Given the description of an element on the screen output the (x, y) to click on. 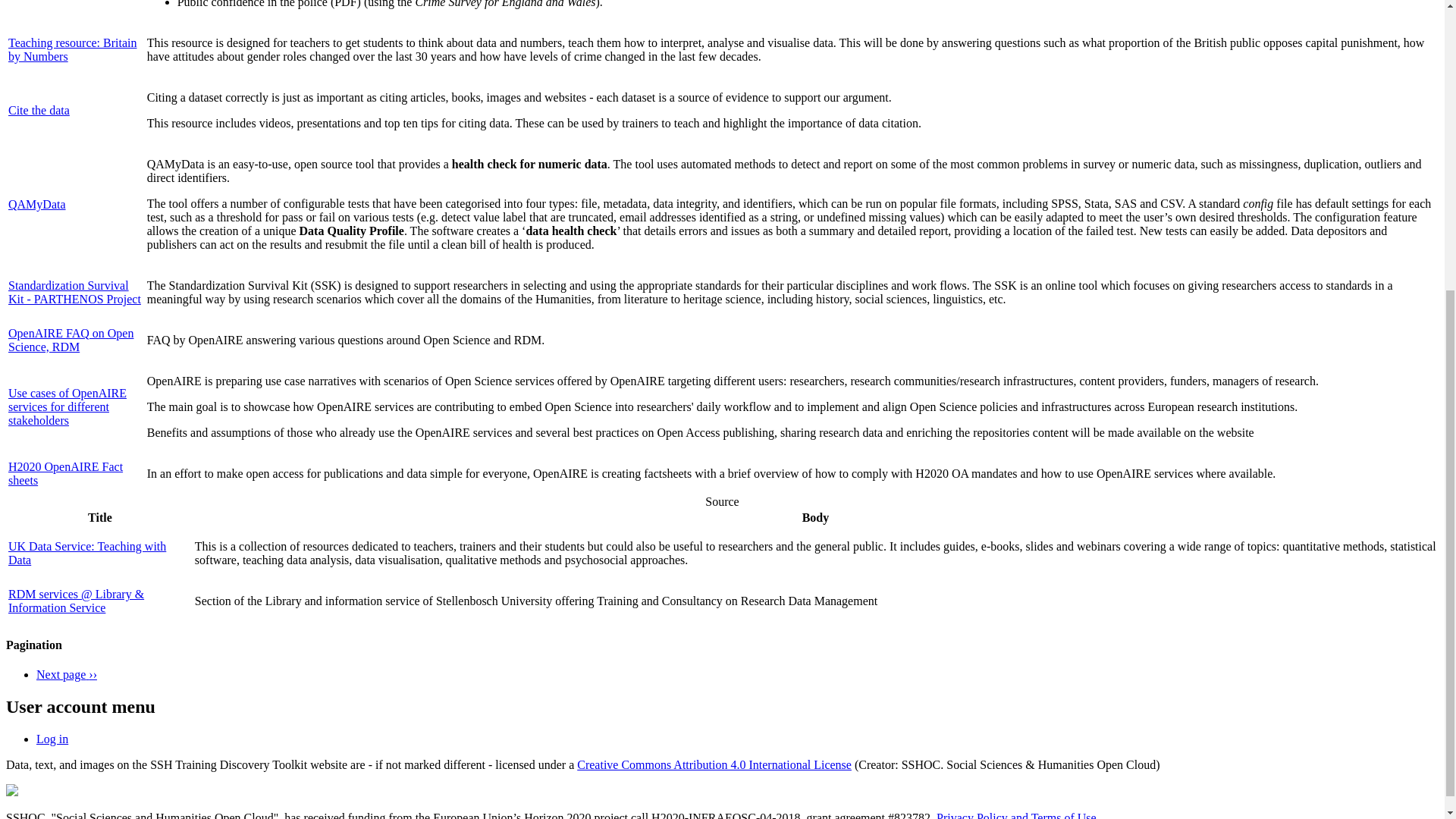
Use cases of OpenAIRE services for different stakeholders (67, 406)
Creative Commons Attribution 4.0 International License (713, 764)
Log in (52, 738)
Teaching resource: Britain by Numbers (72, 49)
UK Data Service: Teaching with Data (86, 552)
Standardization Survival Kit - PARTHENOS Project (74, 292)
OpenAIRE FAQ on Open Science, RDM (70, 339)
Cite the data (38, 110)
Go to next page (66, 674)
QAMyData (36, 204)
H2020 OpenAIRE Fact sheets (65, 473)
